Given the description of an element on the screen output the (x, y) to click on. 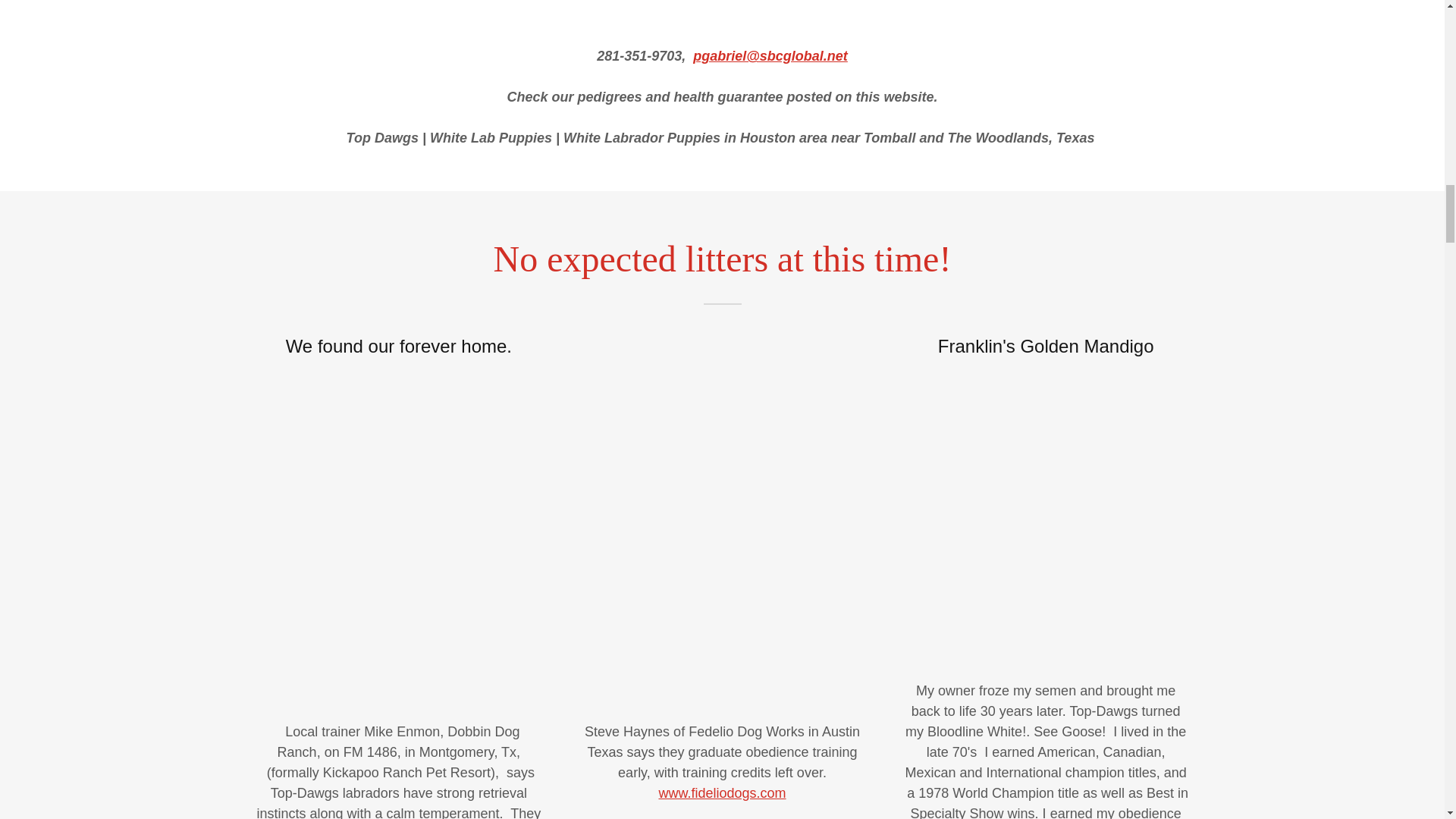
www.fideliodogs.com (722, 792)
